Given the description of an element on the screen output the (x, y) to click on. 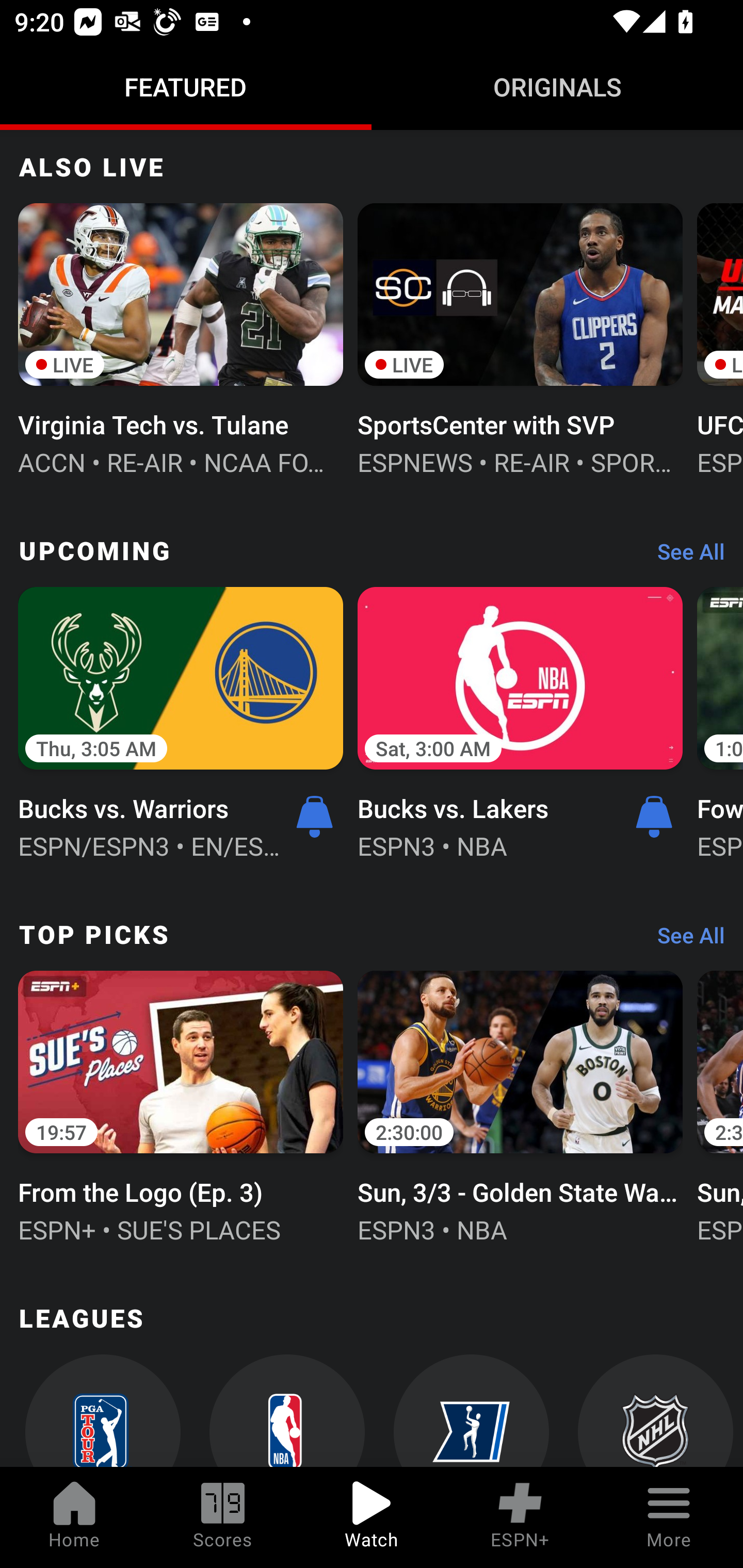
Originals ORIGINALS (557, 86)
See All (683, 556)
See All (683, 939)
19:57 From the Logo (Ep. 3) ESPN+ • SUE'S PLACES (180, 1104)
Home (74, 1517)
Scores (222, 1517)
ESPN+ (519, 1517)
More (668, 1517)
